Given the description of an element on the screen output the (x, y) to click on. 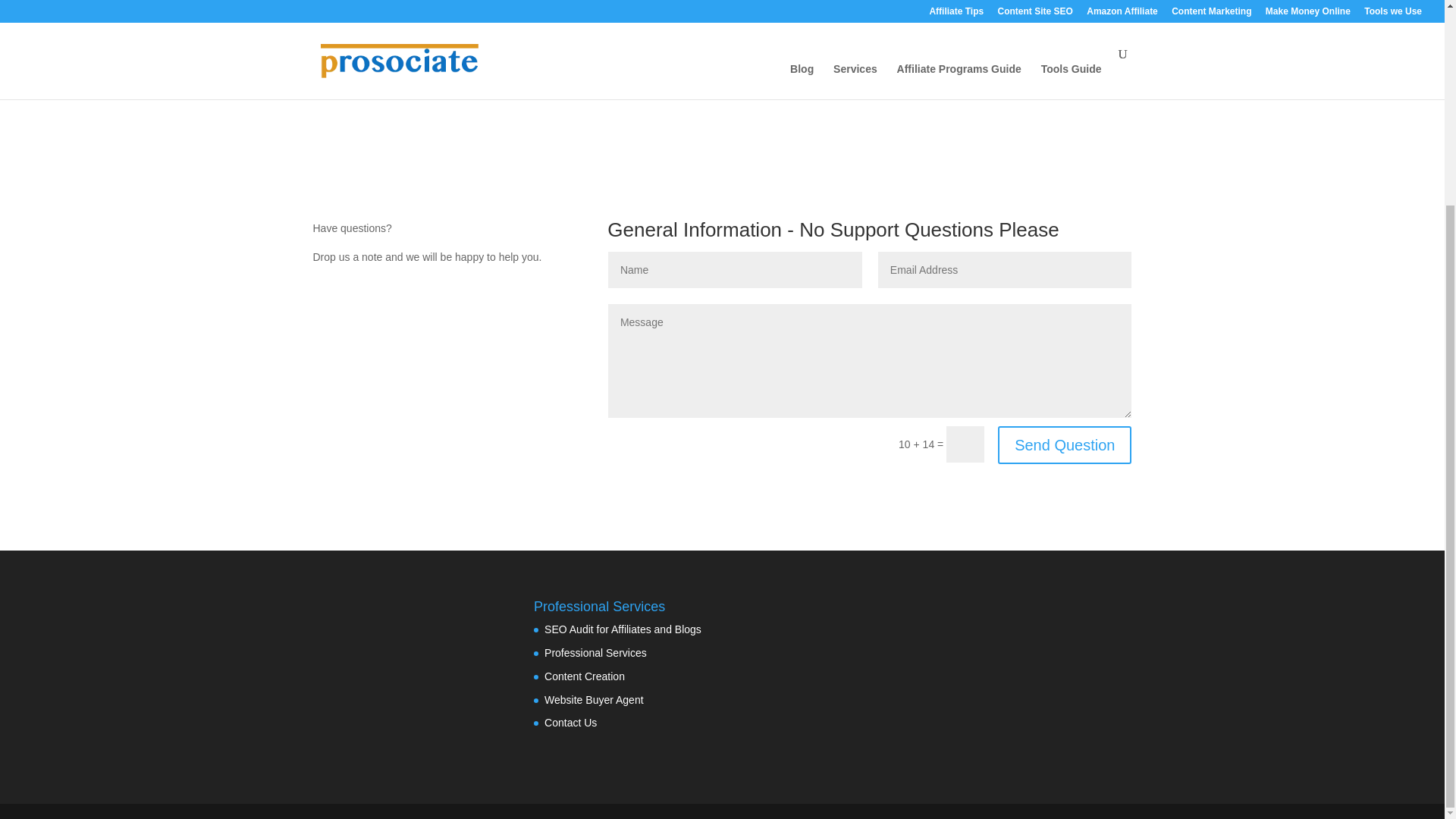
SEO Audit for Affiliates and Blogs (622, 629)
Content Creation (584, 676)
DMCA.com Protection Status (390, 709)
Professional Services (595, 653)
Contact Us (570, 722)
Send Question (1064, 444)
Website Buyer Agent (593, 699)
